Given the description of an element on the screen output the (x, y) to click on. 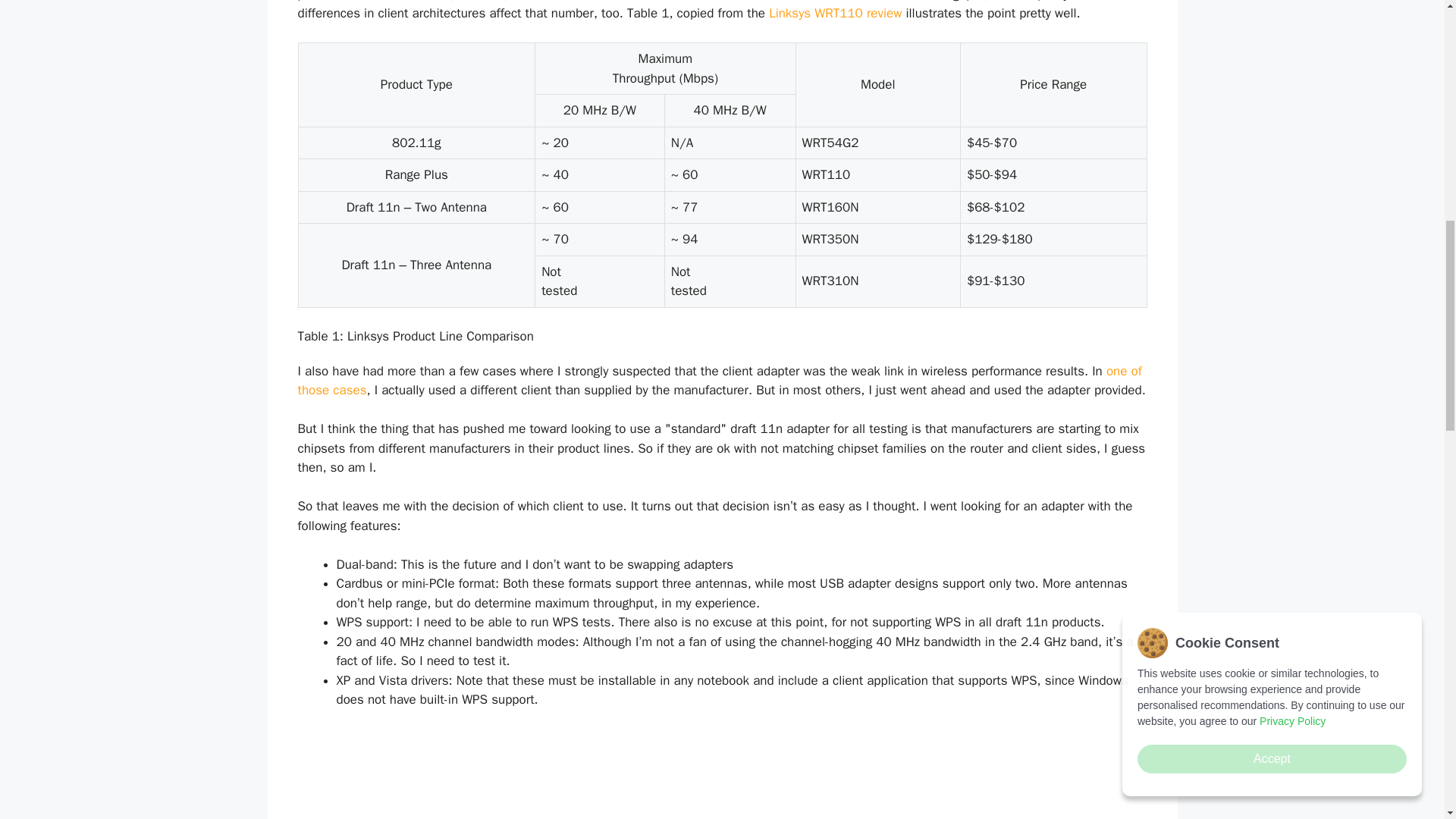
Scroll back to top (1406, 720)
